Given the description of an element on the screen output the (x, y) to click on. 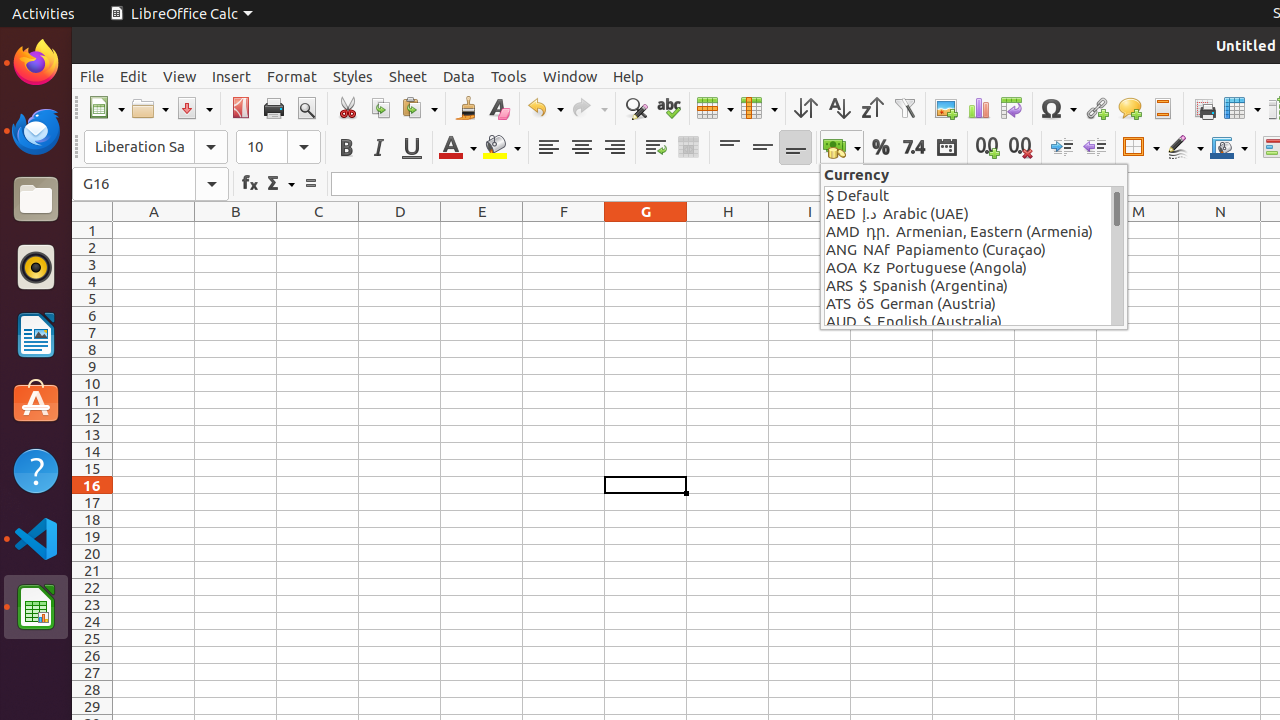
Clone Element type: push-button (465, 108)
Spelling Element type: push-button (668, 108)
Print Area Element type: push-button (1203, 108)
Align Right Element type: push-button (614, 147)
Align Left Element type: push-button (548, 147)
